Given the description of an element on the screen output the (x, y) to click on. 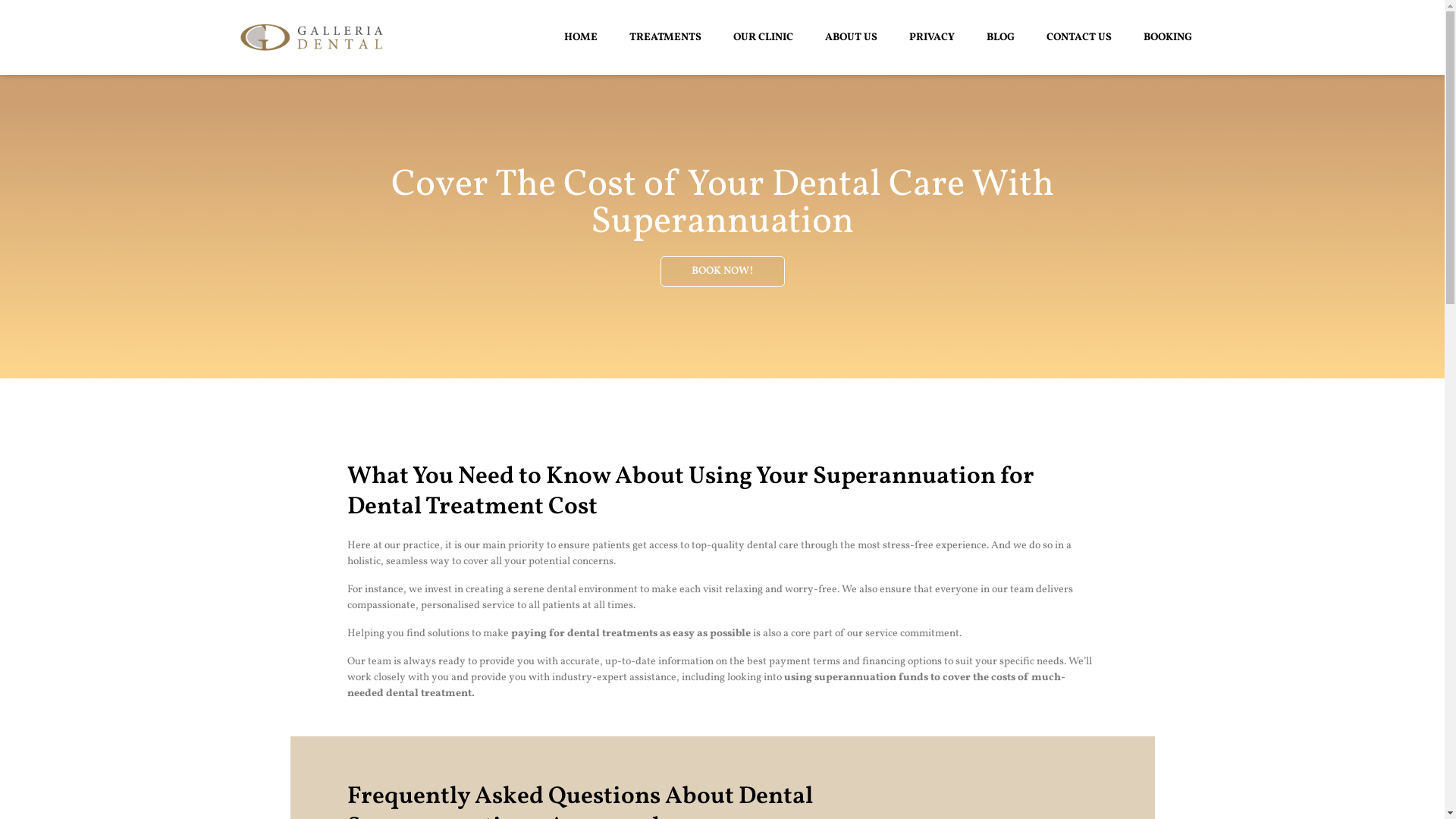
PRIVACY Element type: text (931, 37)
ABOUT US Element type: text (850, 37)
TREATMENTS Element type: text (664, 37)
CONTACT US Element type: text (1077, 37)
HOME Element type: text (579, 37)
BLOG Element type: text (1000, 37)
BOOKING Element type: text (1166, 37)
BOOK NOW! Element type: text (721, 271)
OUR CLINIC Element type: text (763, 37)
